Given the description of an element on the screen output the (x, y) to click on. 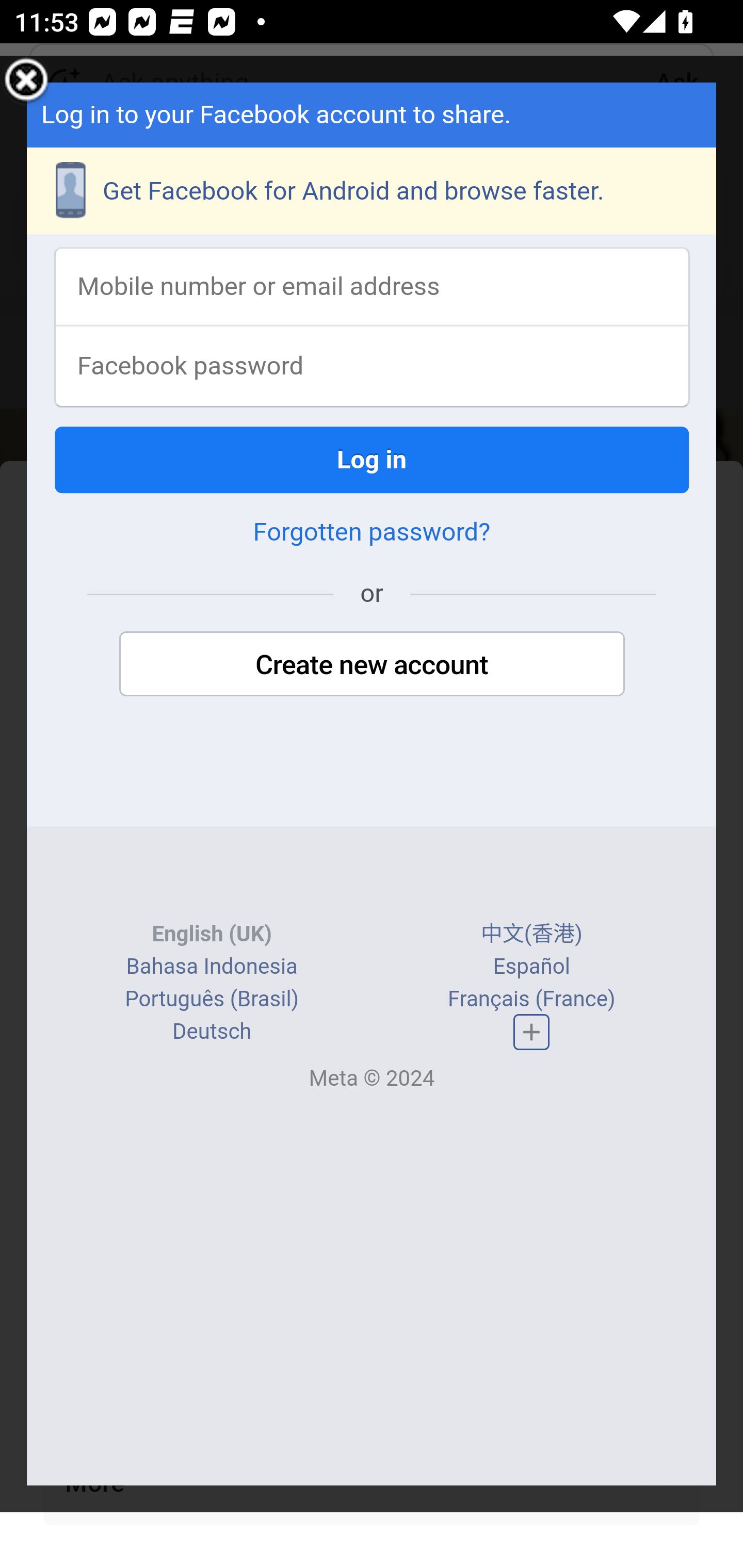
Get Facebook for Android and browse faster. (372, 190)
Log in (372, 458)
Forgotten password? (371, 531)
Create new account (371, 664)
中文(香港) (531, 933)
Bahasa Indonesia (210, 966)
Español (530, 966)
Português (Brasil) (211, 997)
Français (France) (530, 997)
Complete list of languages (531, 1032)
Deutsch (211, 1030)
